Given the description of an element on the screen output the (x, y) to click on. 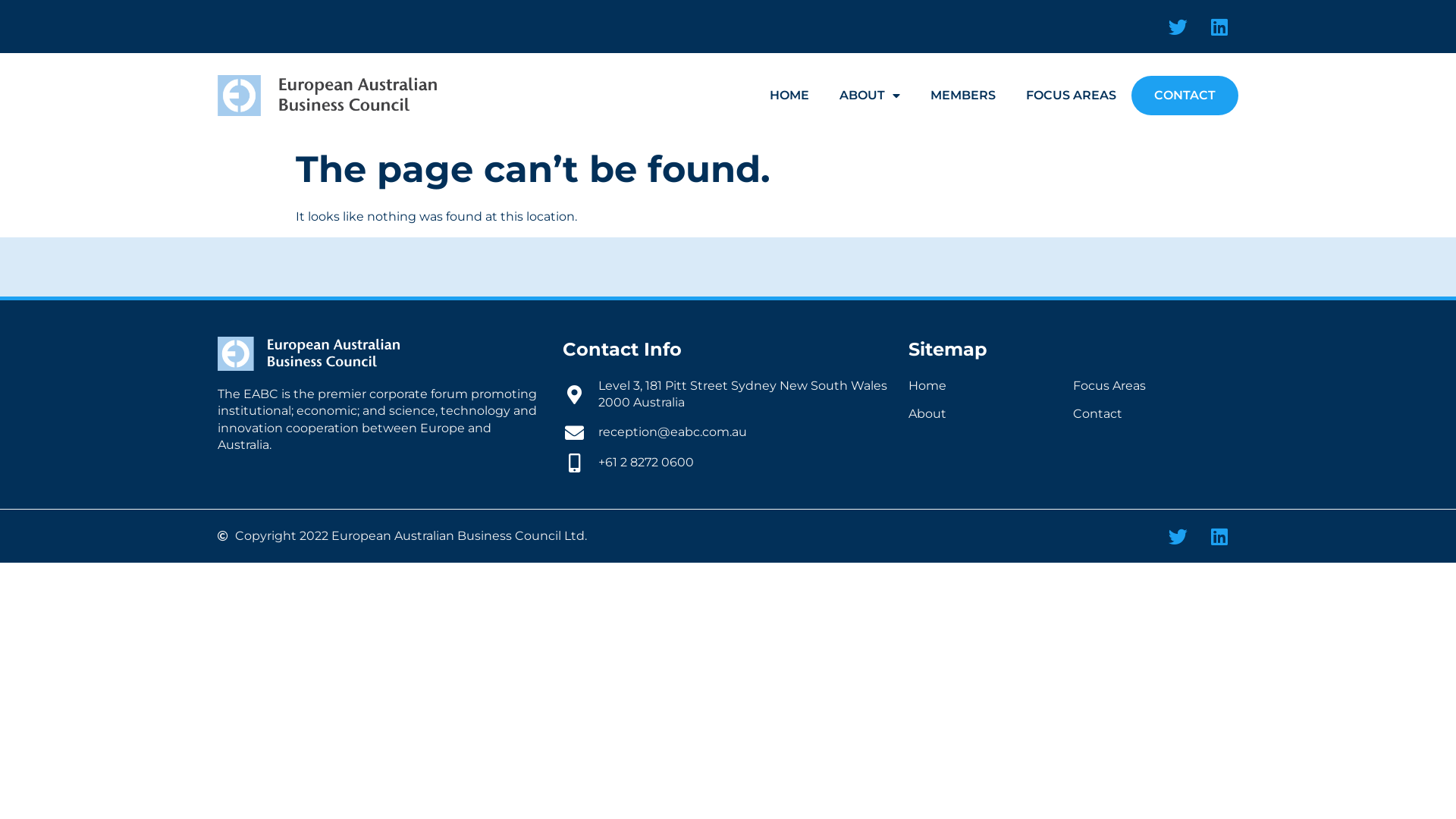
HOME Element type: text (789, 95)
CONTACT Element type: text (1184, 95)
MEMBERS Element type: text (962, 95)
FOCUS AREAS Element type: text (1070, 95)
ABOUT Element type: text (869, 95)
About Element type: text (990, 413)
Focus Areas Element type: text (1155, 385)
Home Element type: text (990, 385)
Contact Element type: text (1155, 413)
